Given the description of an element on the screen output the (x, y) to click on. 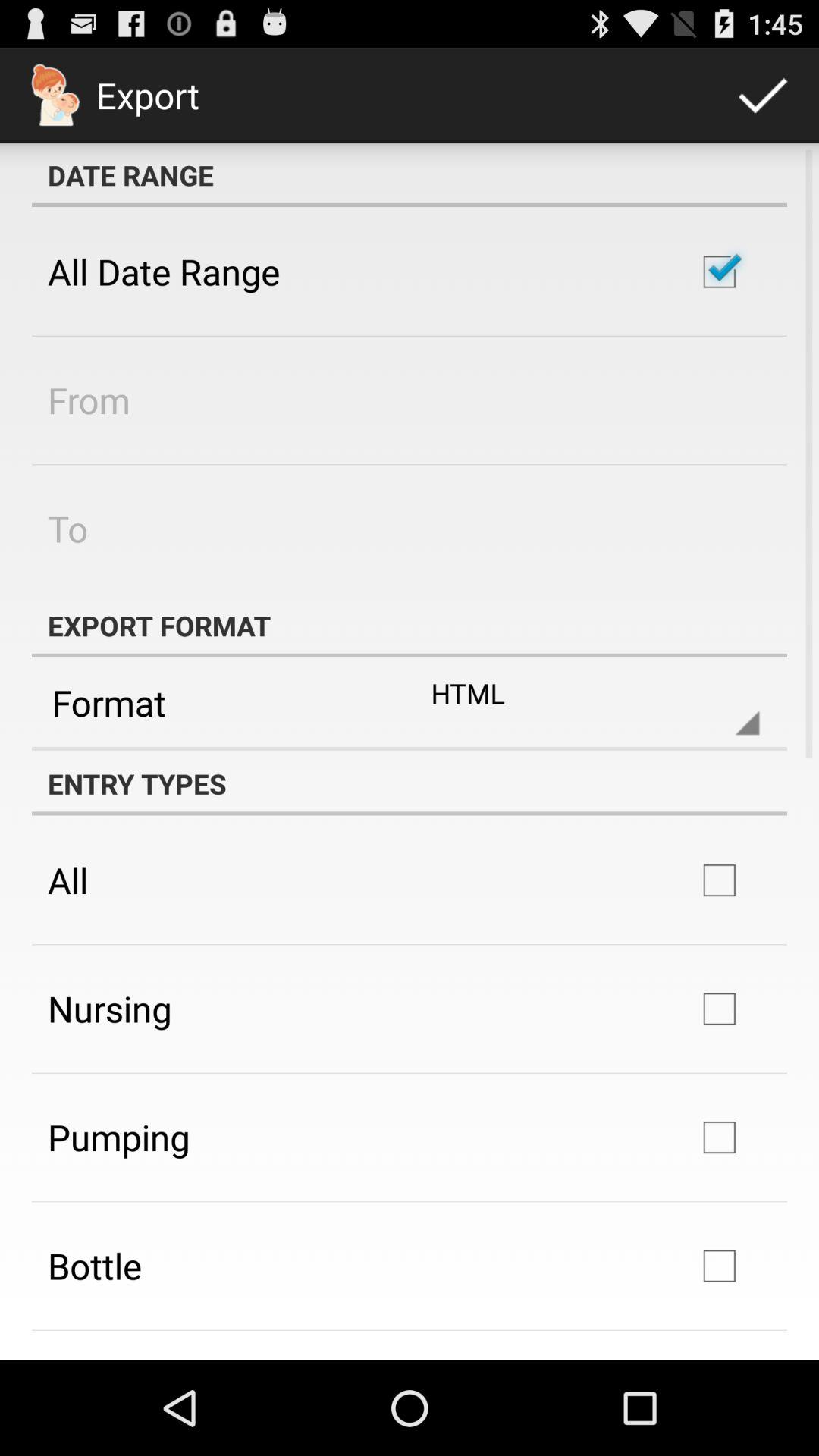
launch the app above to item (88, 399)
